Given the description of an element on the screen output the (x, y) to click on. 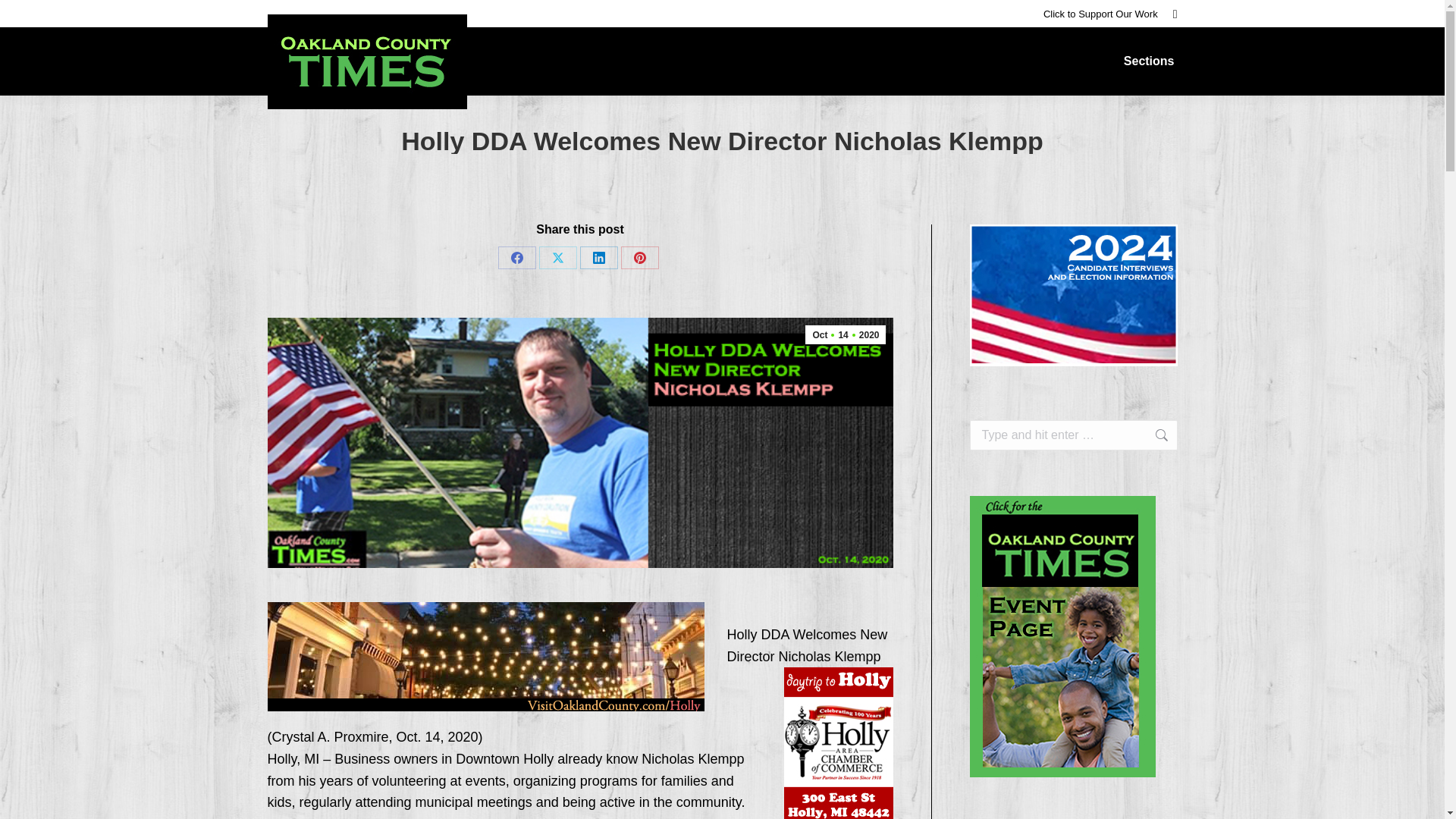
X (557, 257)
Pinterest (640, 257)
Click to Support Our Work (1100, 12)
Go! (24, 16)
5:46 pm (845, 334)
Sections (1149, 60)
LinkedIn (598, 257)
Go! (1153, 435)
Go! (1153, 435)
Facebook (516, 257)
